Given the description of an element on the screen output the (x, y) to click on. 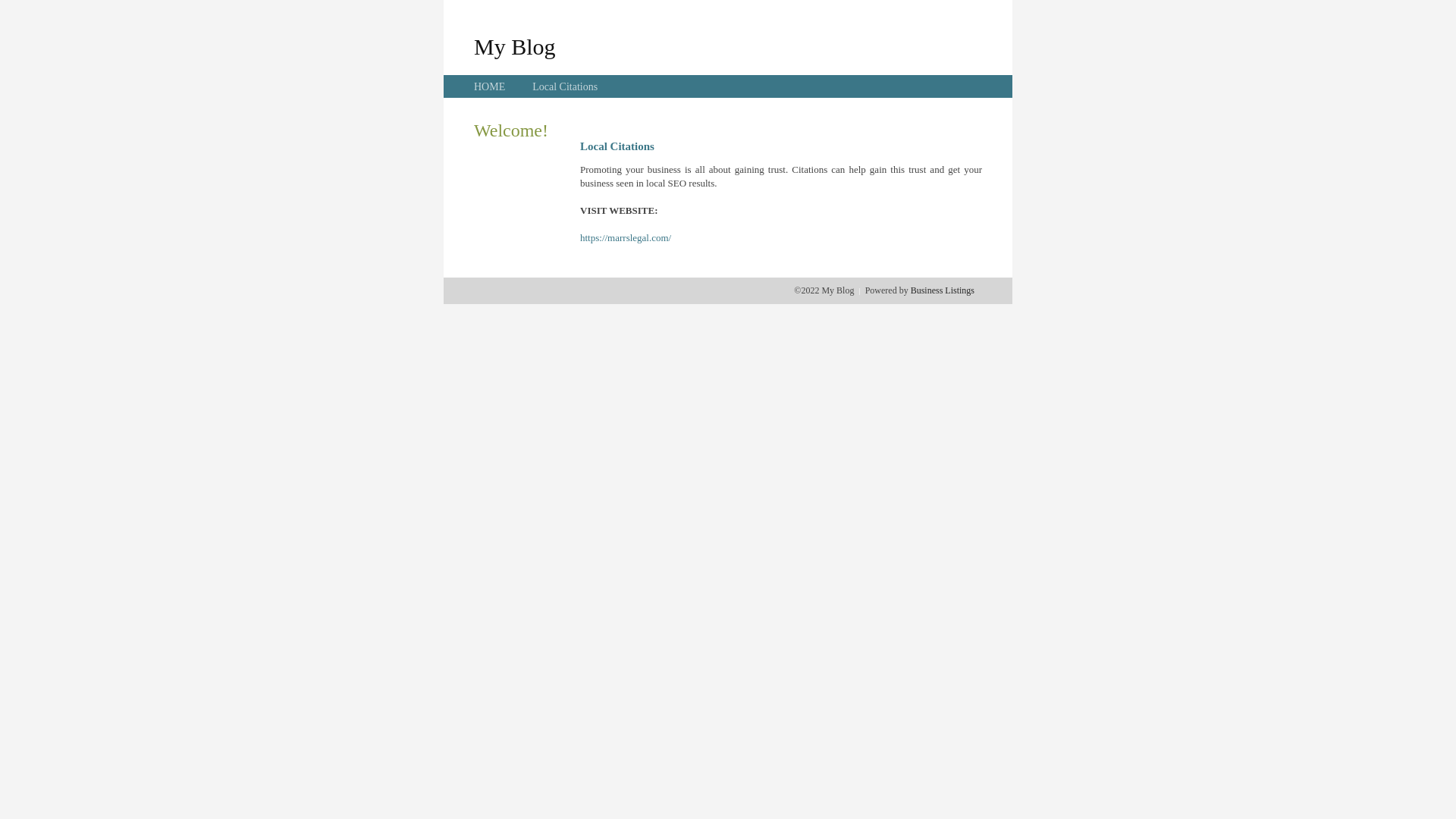
HOME Element type: text (489, 86)
Local Citations Element type: text (564, 86)
https://marrslegal.com/ Element type: text (625, 237)
Business Listings Element type: text (942, 290)
My Blog Element type: text (514, 46)
